Given the description of an element on the screen output the (x, y) to click on. 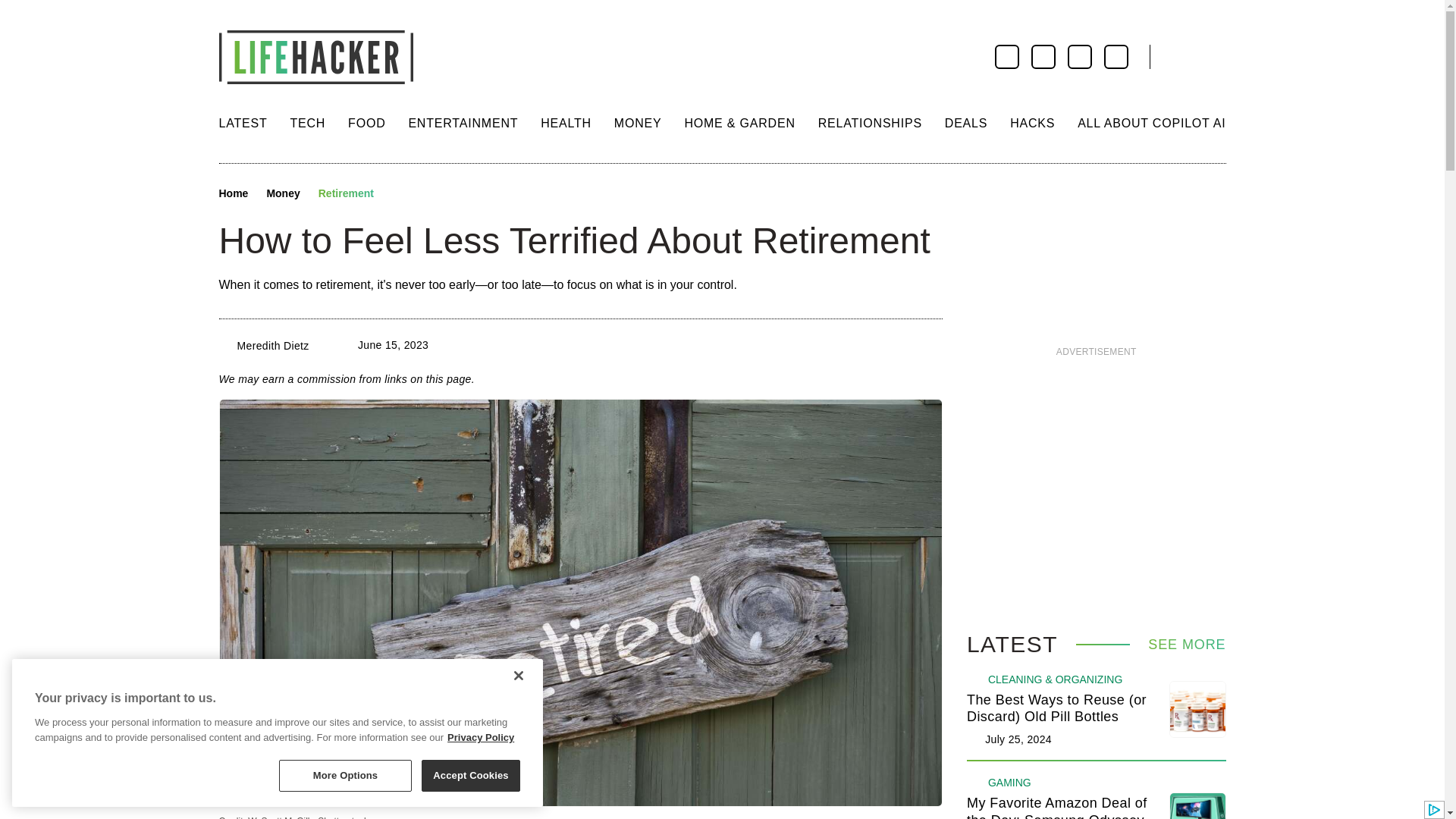
DEALS (965, 123)
HEALTH (565, 123)
ENTERTAINMENT (462, 123)
RELATIONSHIPS (869, 123)
LATEST (242, 123)
Retirement (346, 193)
HACKS (1032, 123)
Social Share (399, 193)
FOOD (366, 123)
Home (232, 193)
TECH (306, 123)
Money (282, 193)
MONEY (638, 123)
ALL ABOUT COPILOT AI (1151, 123)
